Given the description of an element on the screen output the (x, y) to click on. 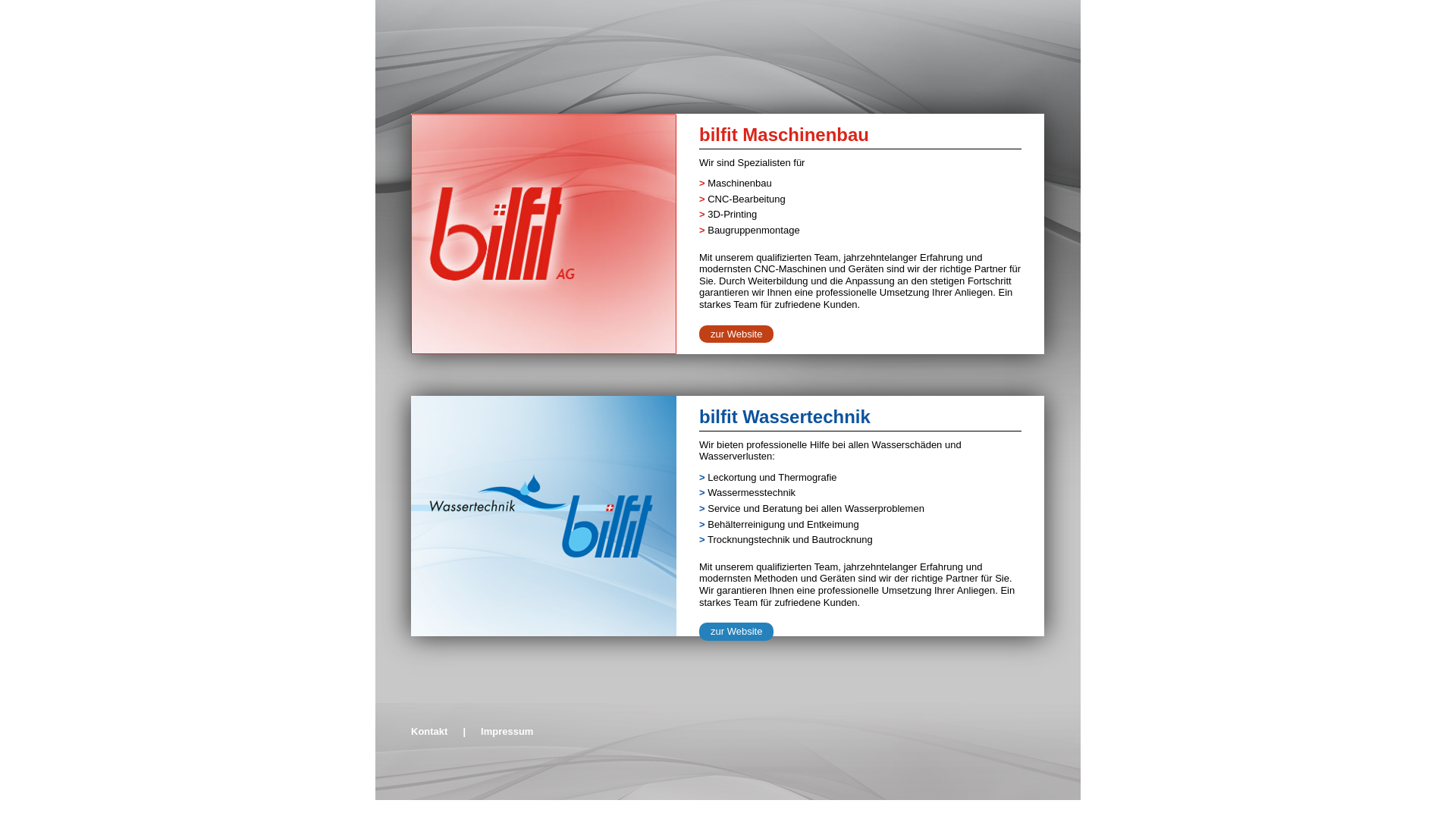
Impressum Element type: text (506, 731)
zur Website Element type: text (736, 334)
zur Website Element type: text (736, 631)
Kontakt Element type: text (429, 731)
Bilfit CH Element type: hover (543, 350)
